Given the description of an element on the screen output the (x, y) to click on. 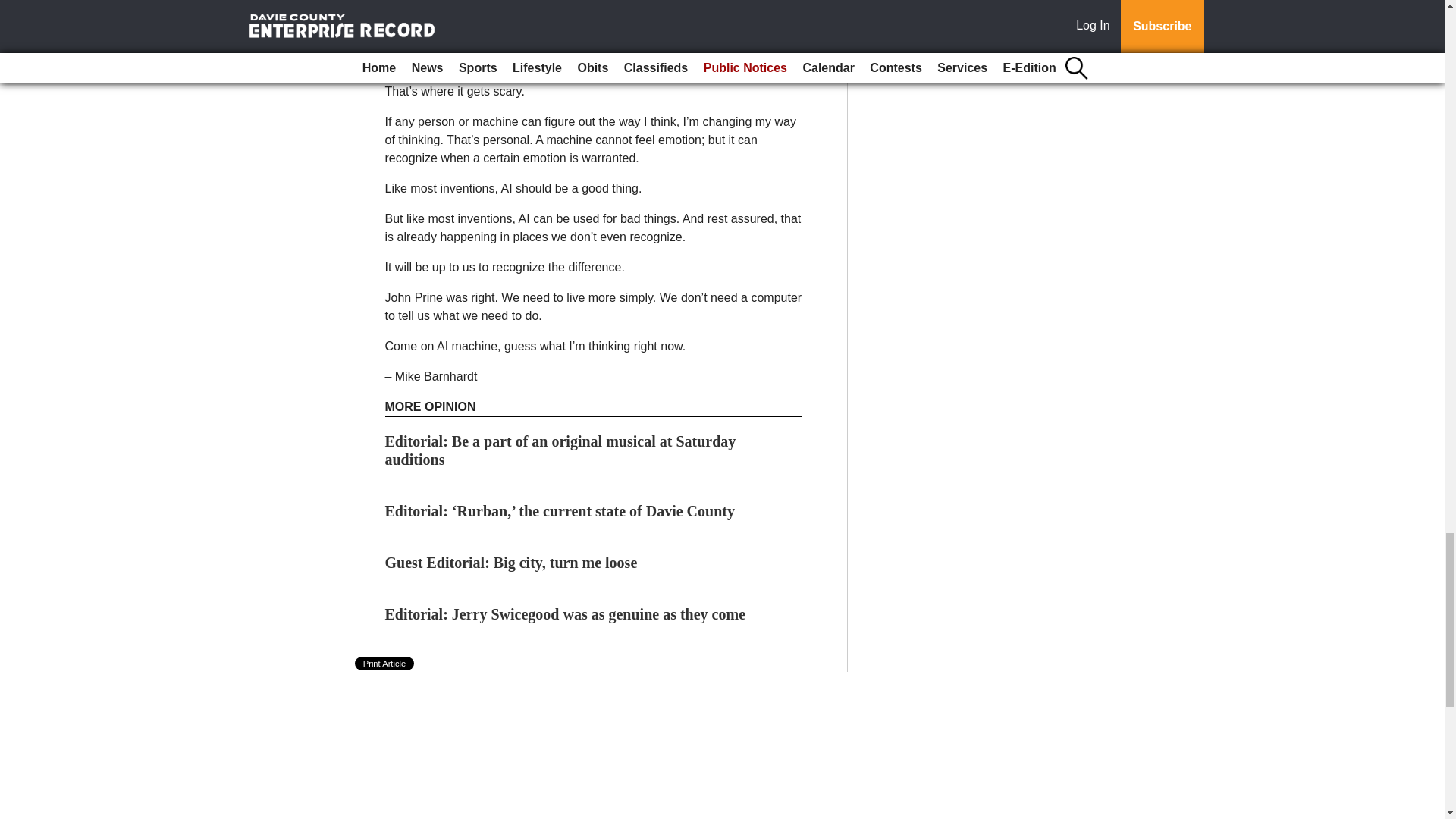
Guest Editorial: Big city, turn me loose (511, 562)
Print Article (384, 663)
Guest Editorial: Big city, turn me loose (511, 562)
Editorial: Jerry Swicegood was as genuine as they come (565, 614)
Editorial: Jerry Swicegood was as genuine as they come (565, 614)
